Given the description of an element on the screen output the (x, y) to click on. 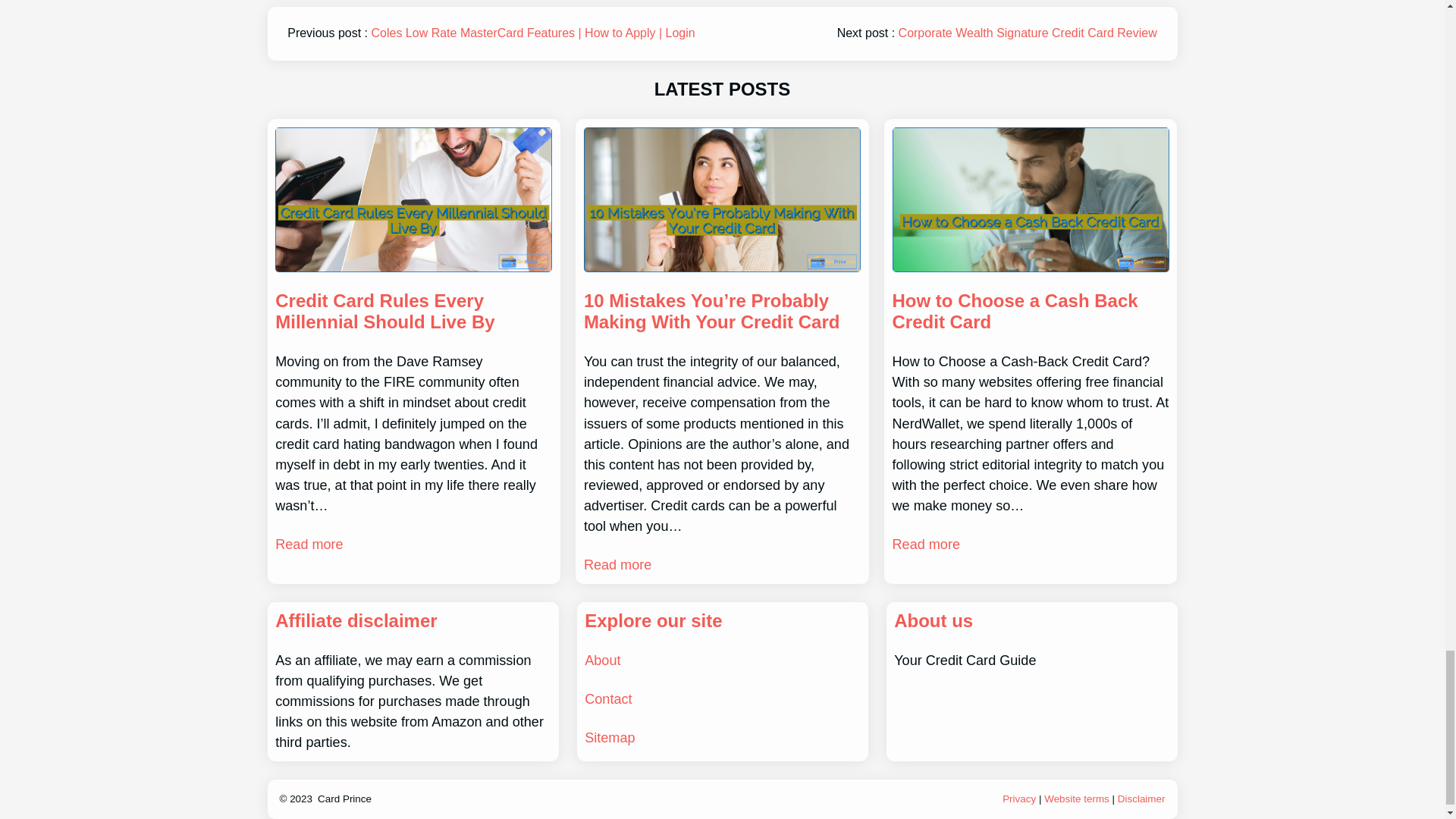
Read more (925, 544)
Corporate Wealth Signature Credit Card Review (1027, 32)
Sitemap (609, 737)
Disclaimer (1142, 798)
Website terms (1076, 798)
Card Prince (344, 798)
Contact (608, 698)
Privacy (1019, 798)
About (602, 660)
Read more (308, 544)
How to Choose a Cash Back Credit Card (1030, 312)
Read more (616, 565)
Credit Card Rules Every Millennial Should Live By (413, 312)
